Given the description of an element on the screen output the (x, y) to click on. 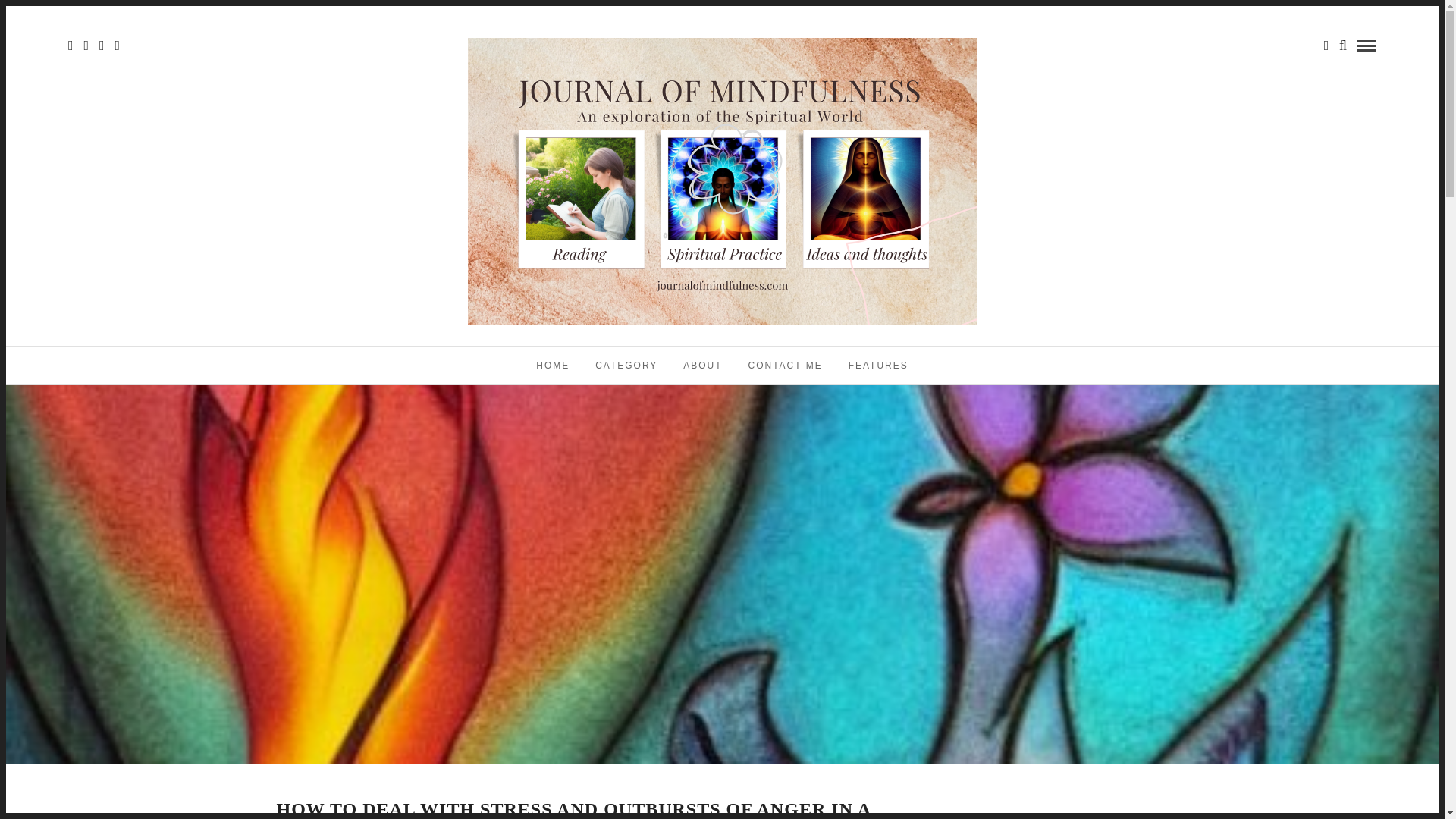
CATEGORY (625, 365)
FEATURES (878, 365)
HOME (552, 365)
ABOUT (702, 365)
CONTACT ME (785, 365)
